Given the description of an element on the screen output the (x, y) to click on. 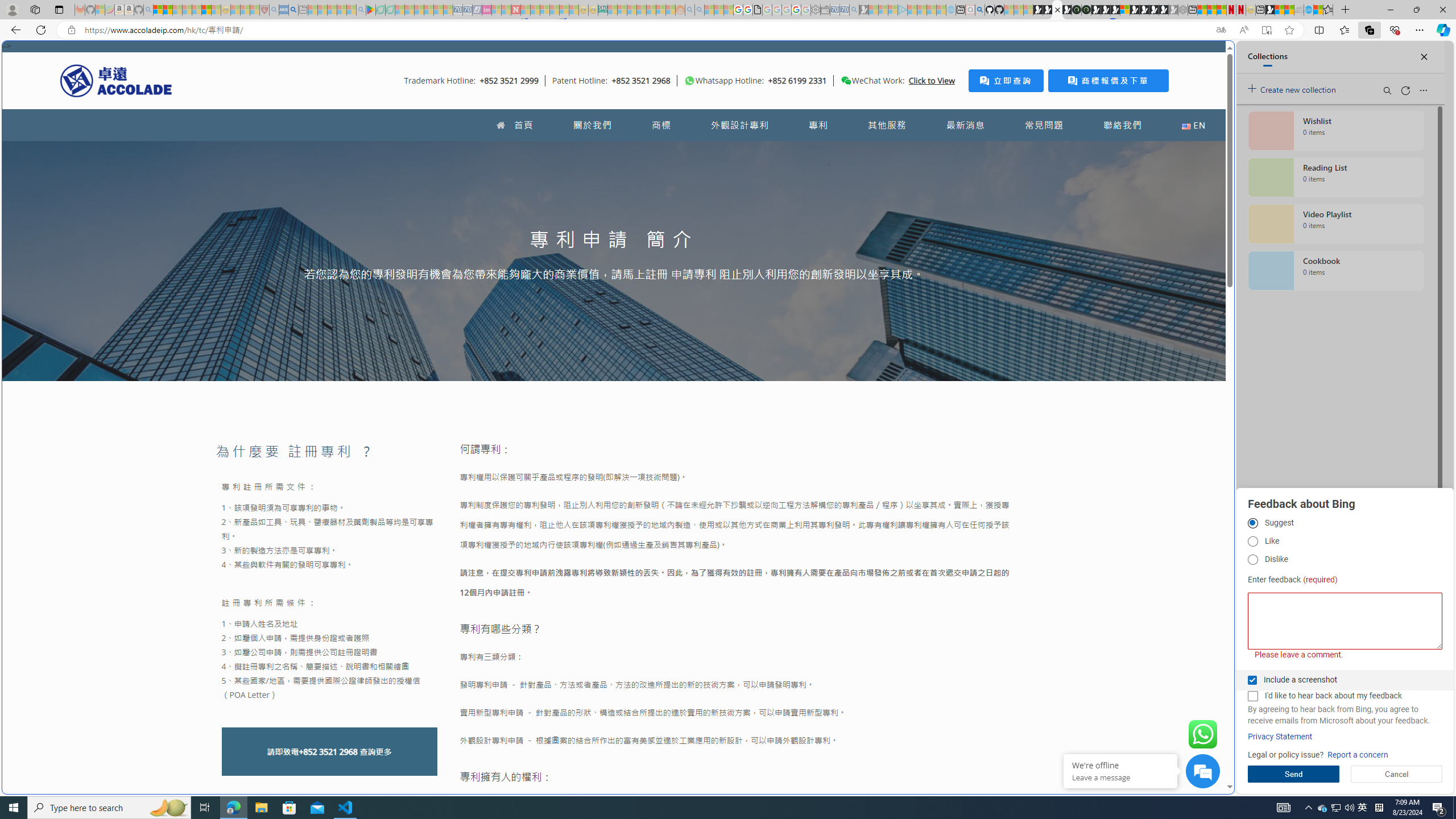
Future Focus Report 2024 (1085, 9)
Play Zoo Boom in your browser | Games from Microsoft Start (1047, 9)
14 Common Myths Debunked By Scientific Facts - Sleeping (534, 9)
Local - MSN - Sleeping (254, 9)
